Given the description of an element on the screen output the (x, y) to click on. 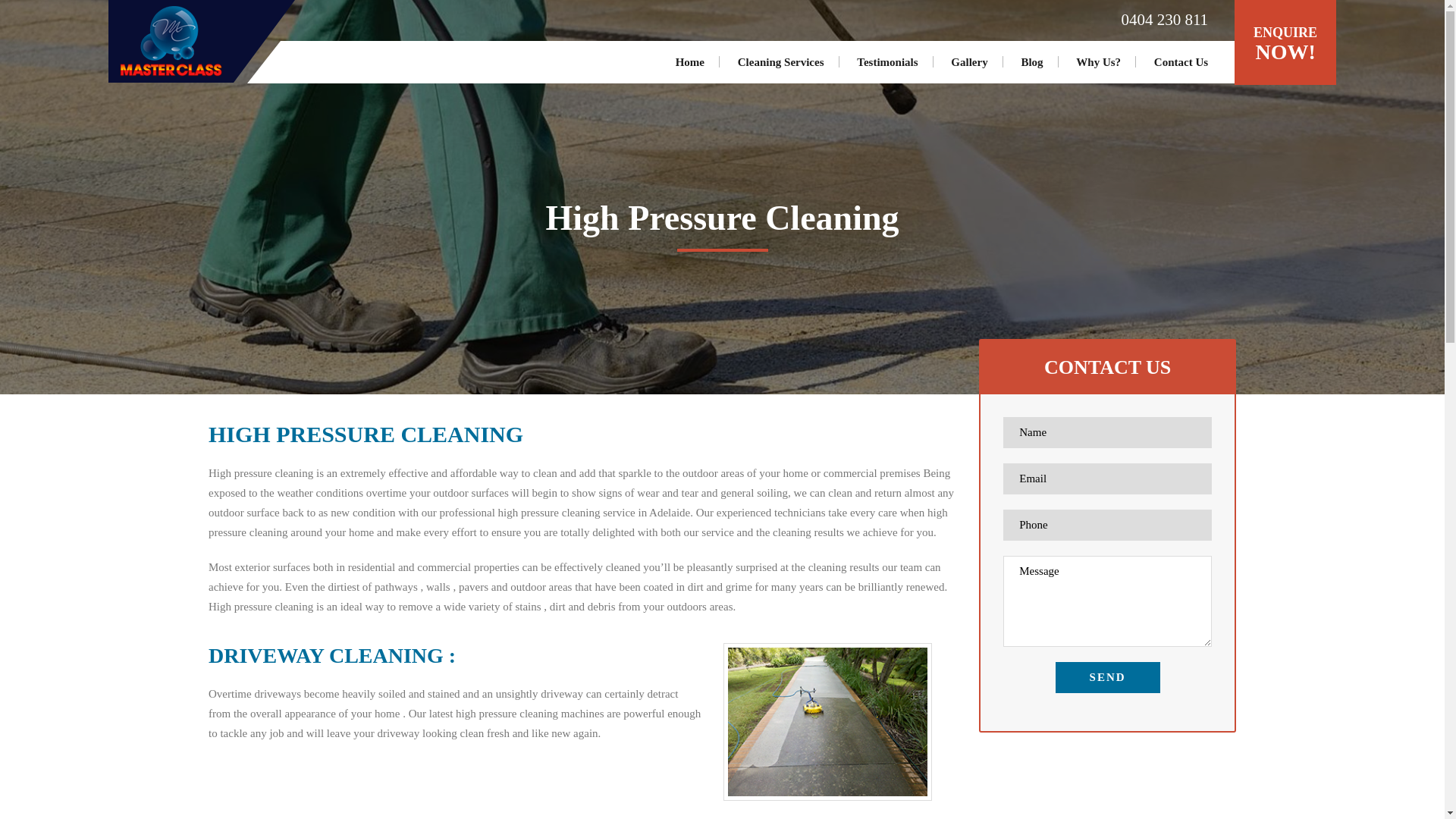
Carpet Cleaning Adelaide (170, 40)
Send (1107, 676)
Testimonials (887, 61)
Blog (1032, 61)
Carpet Cleaning Adelaide (170, 40)
Why Us? (1098, 61)
Gallery (969, 61)
Send (1107, 676)
Home (690, 61)
Gallery (969, 61)
Contact Us (1180, 61)
0404 230 811 (1155, 19)
0404 230 811 (1155, 19)
Testimonials (887, 61)
Cleaning Services (781, 61)
